Given the description of an element on the screen output the (x, y) to click on. 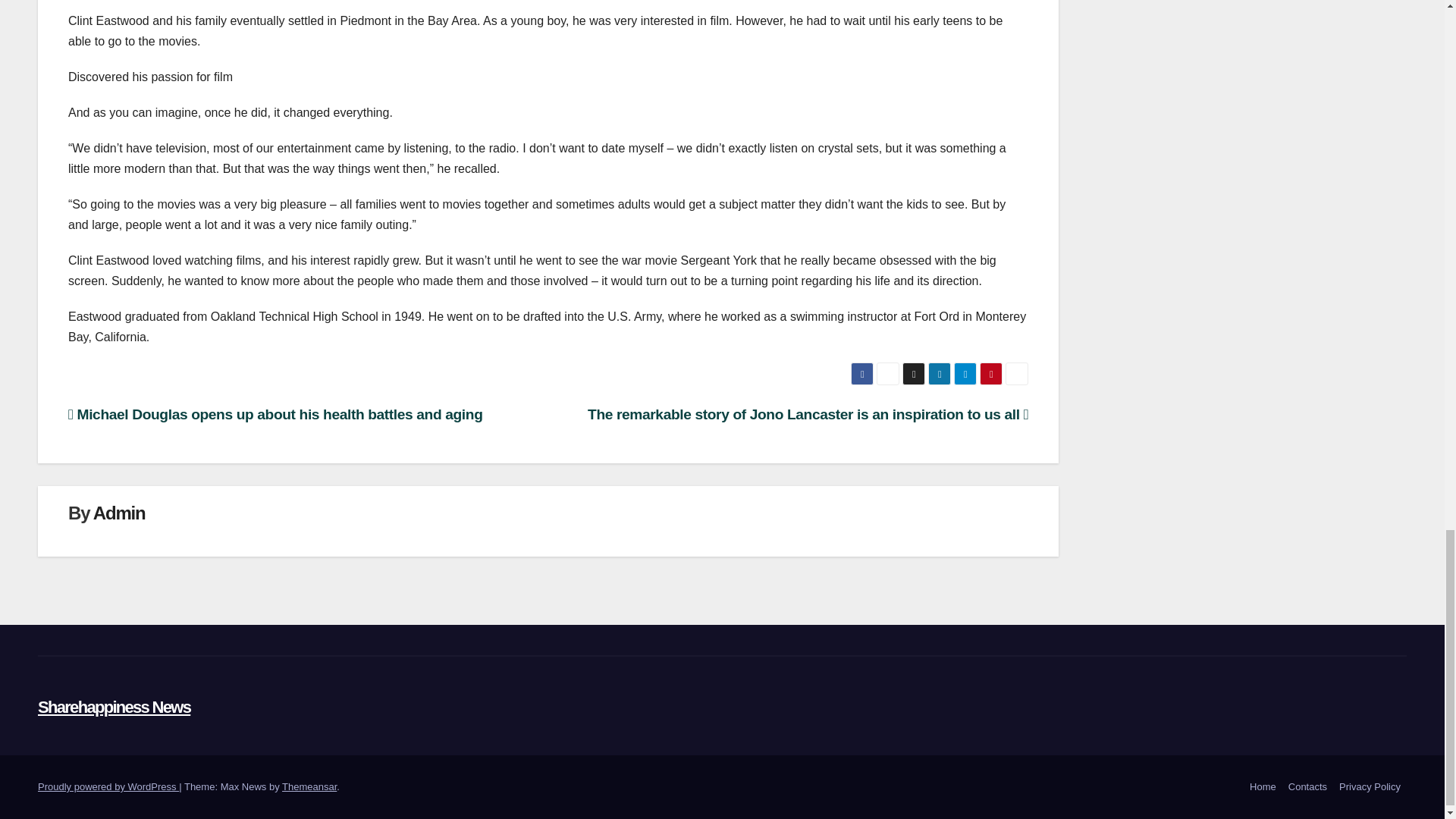
Home (1262, 786)
Sharehappiness News (113, 706)
Michael Douglas opens up about his health battles and aging (274, 414)
Admin (119, 512)
